Given the description of an element on the screen output the (x, y) to click on. 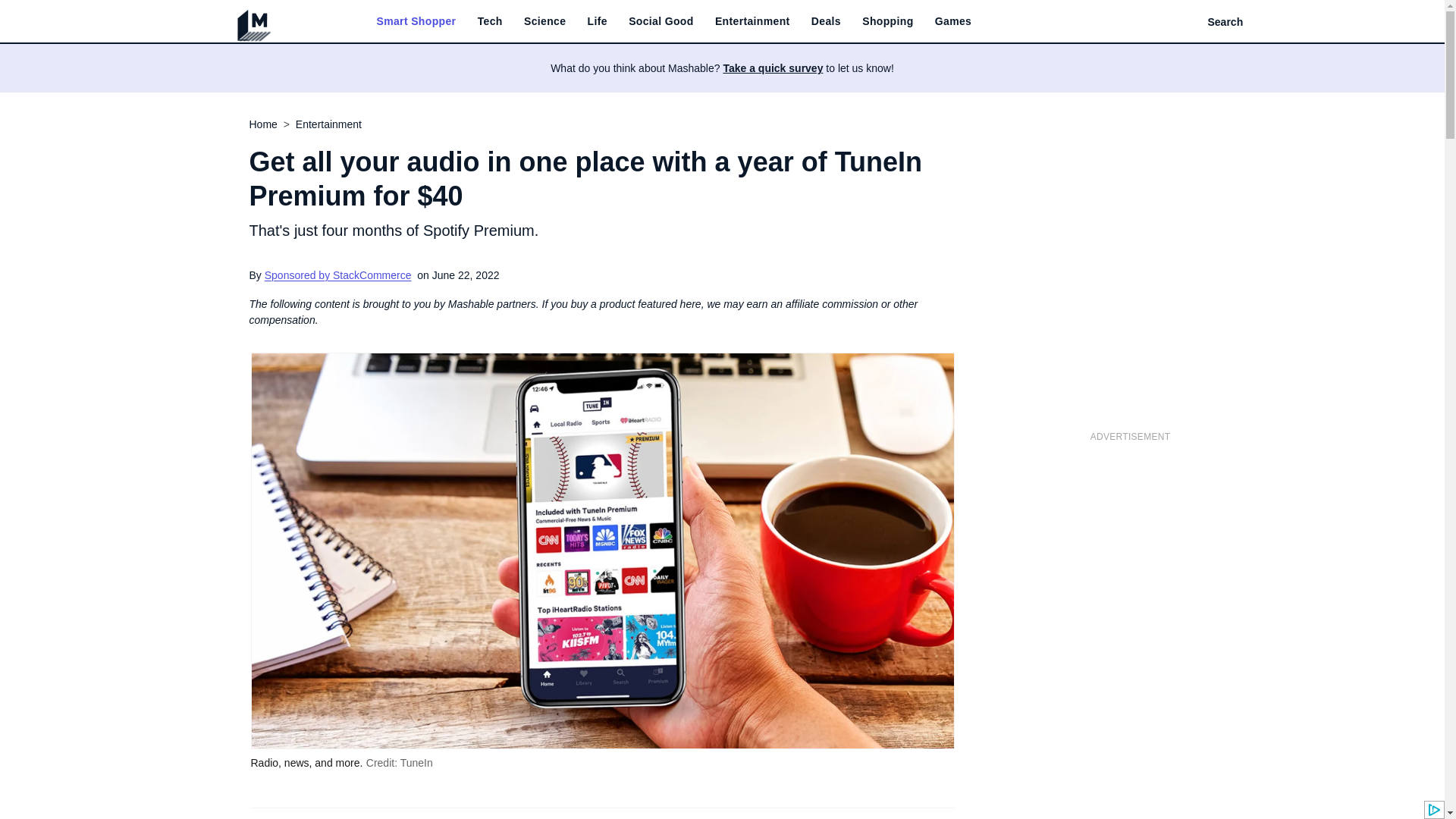
Science (545, 21)
Entertainment (752, 21)
Games (952, 21)
Social Good (661, 21)
Life (597, 21)
Smart Shopper (415, 21)
Tech (489, 21)
Shopping (886, 21)
Deals (825, 21)
